Given the description of an element on the screen output the (x, y) to click on. 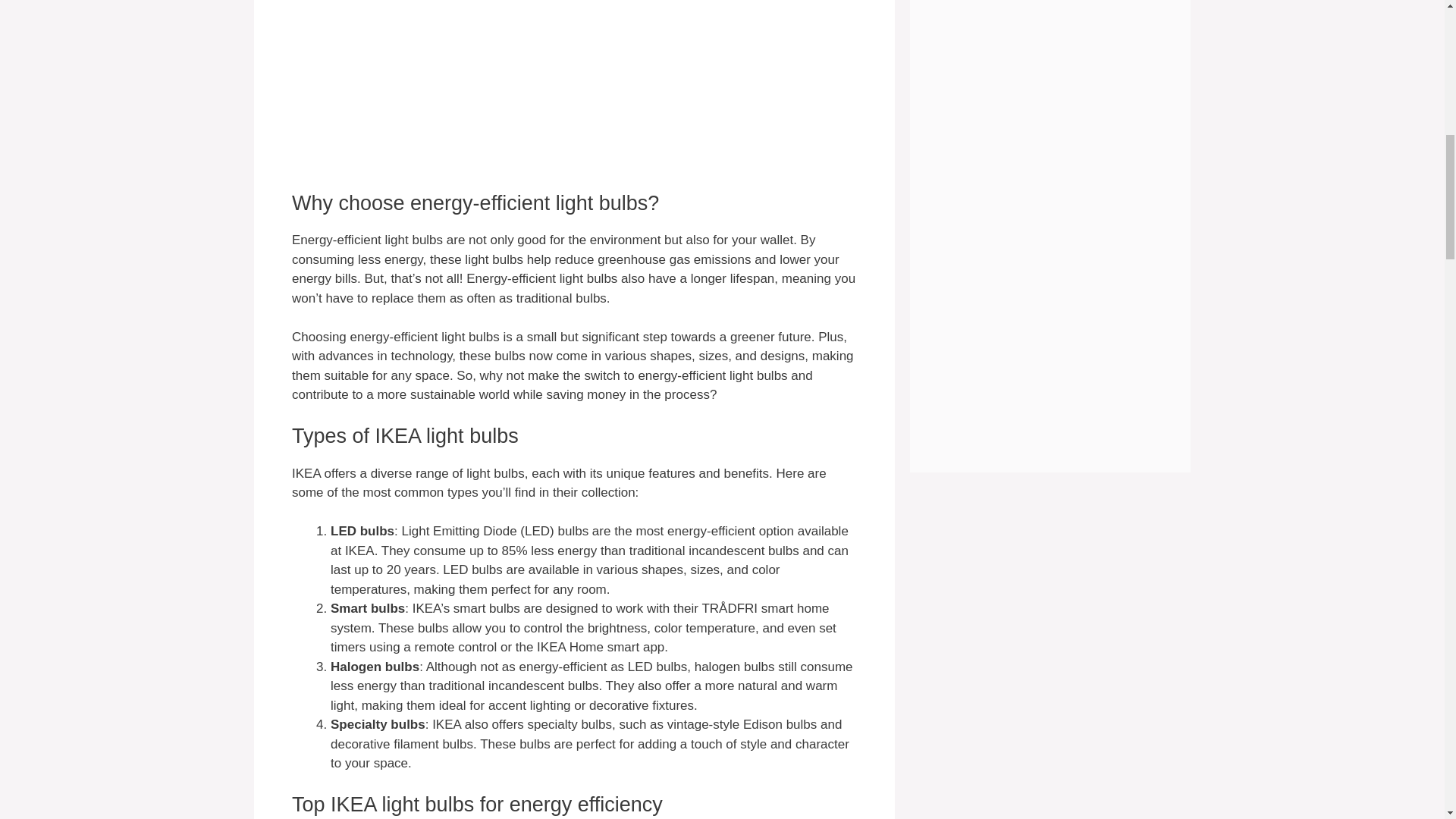
Advertisement (574, 95)
